Given the description of an element on the screen output the (x, y) to click on. 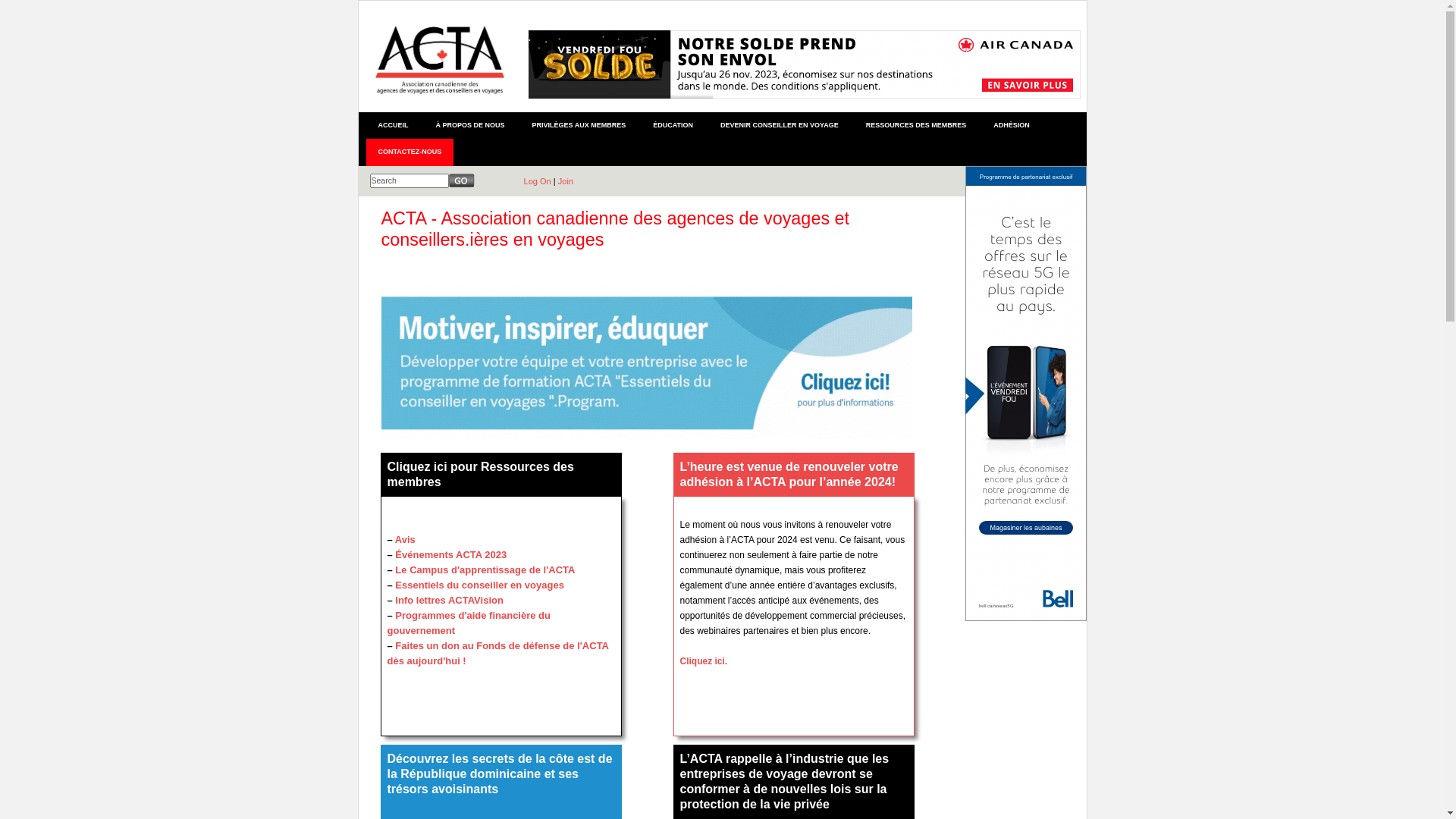
3rd party ad content Element type: hover (804, 64)
CONTACTEZ-NOUS Element type: text (409, 151)
Le Campus d'apprentissage de l'ACTA Element type: text (484, 569)
Cliquez ici pour Ressources des membres Element type: text (479, 474)
Log On Element type: text (536, 180)
3rd party ad content Element type: hover (1024, 393)
Join Element type: text (565, 180)
Cliquez ici. Element type: text (703, 660)
DEVENIR CONSEILLER EN VOYAGE Element type: text (779, 125)
RESSOURCES DES MEMBRES Element type: text (916, 125)
Info lettres ACTAVision Element type: text (449, 599)
Essentiels du conseiller en voyages Element type: text (478, 584)
Avis Element type: text (405, 539)
ACCUEIL Element type: text (392, 125)
